Given the description of an element on the screen output the (x, y) to click on. 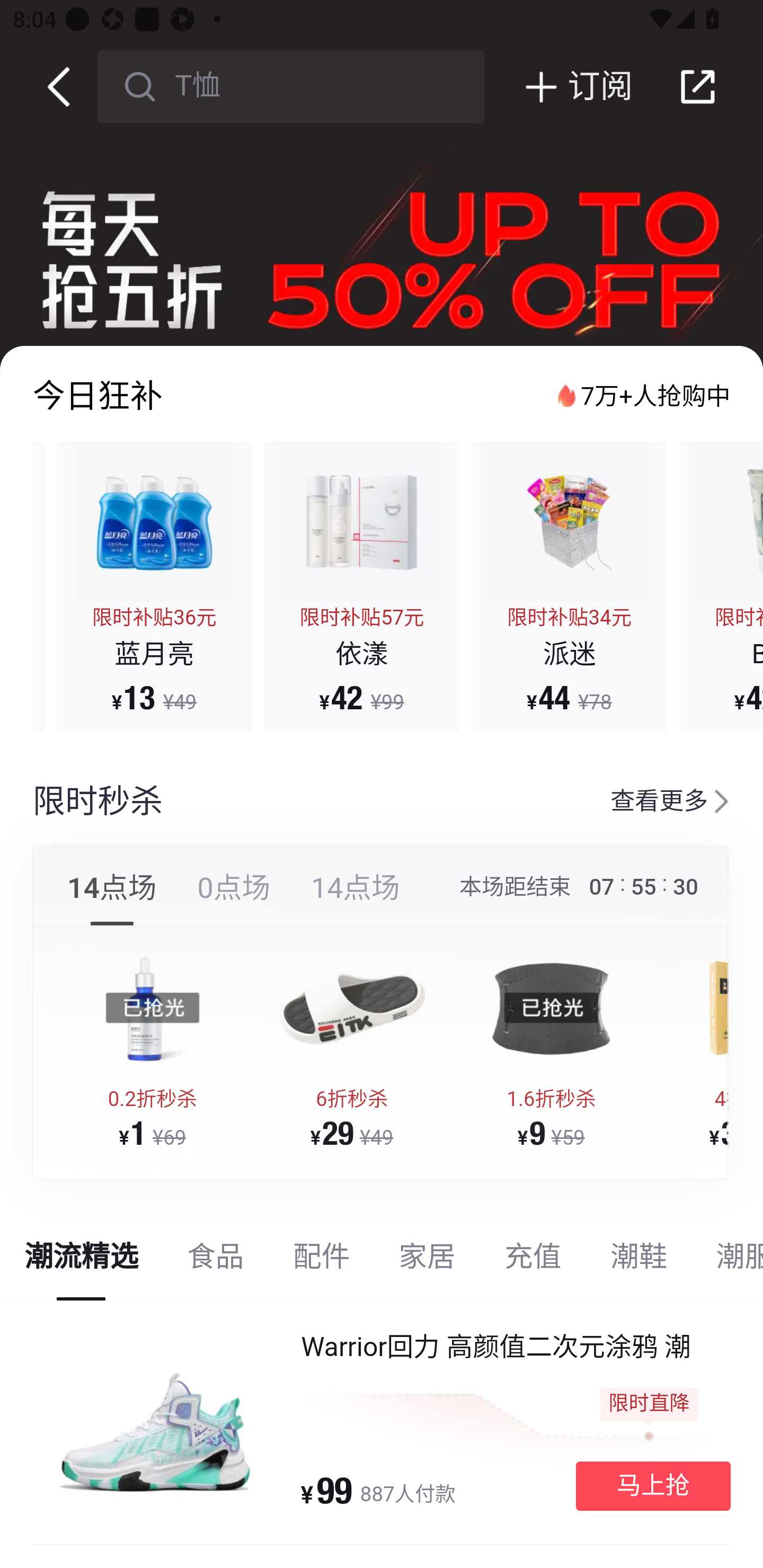
订阅 (558, 86)
查看更多 resize,w_28 (656, 801)
14点场 (112, 899)
0点场 (233, 899)
14点场 (354, 899)
resize,w_225 (152, 1008)
resize,w_225 (352, 1008)
resize,w_225 (551, 1008)
潮流精选 (82, 1263)
食品 (214, 1263)
配件 (321, 1263)
家居 (427, 1263)
充值 (532, 1263)
潮鞋 (638, 1263)
马上抢 (652, 1485)
